Given the description of an element on the screen output the (x, y) to click on. 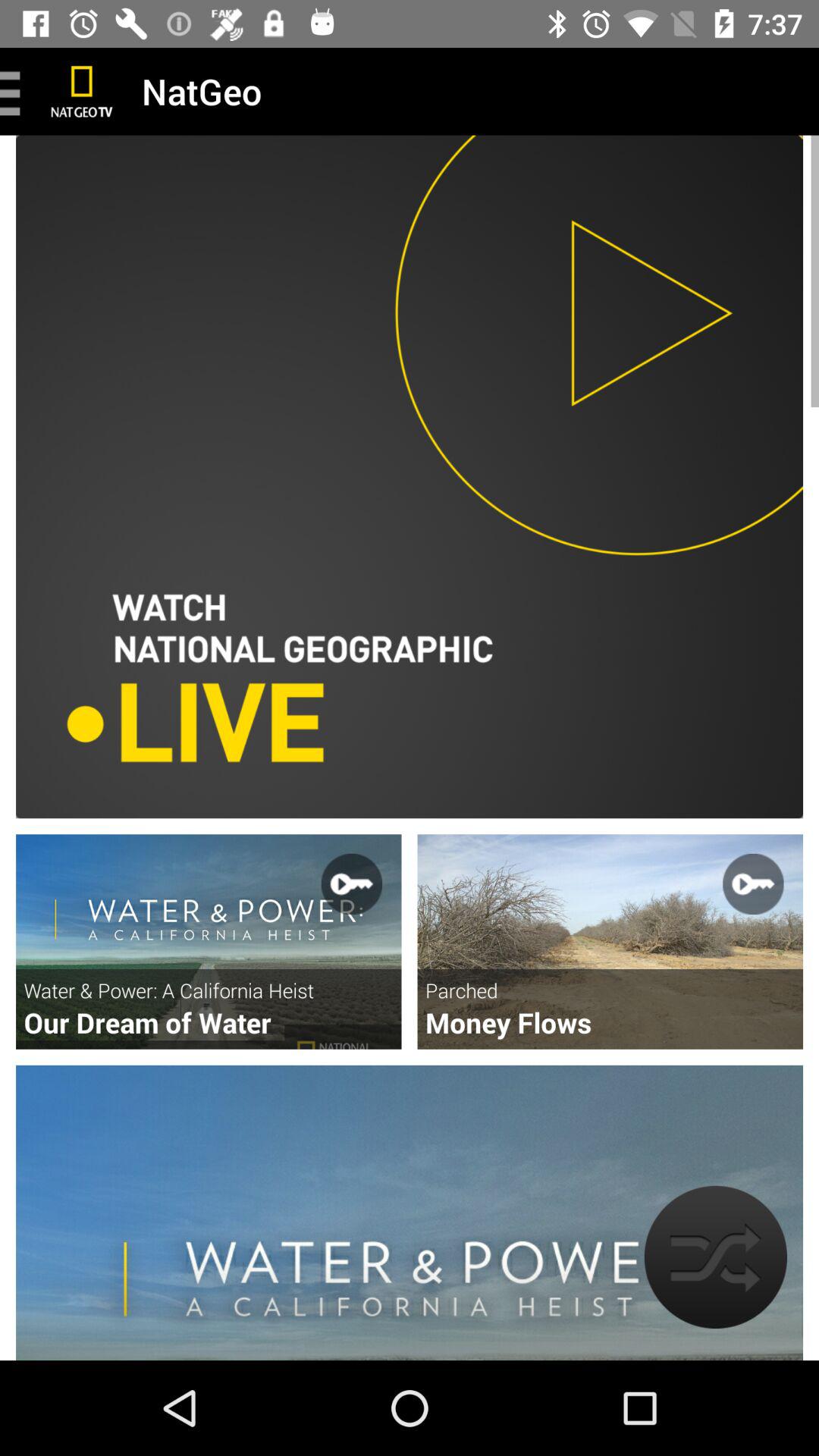
open the page (208, 941)
